Given the description of an element on the screen output the (x, y) to click on. 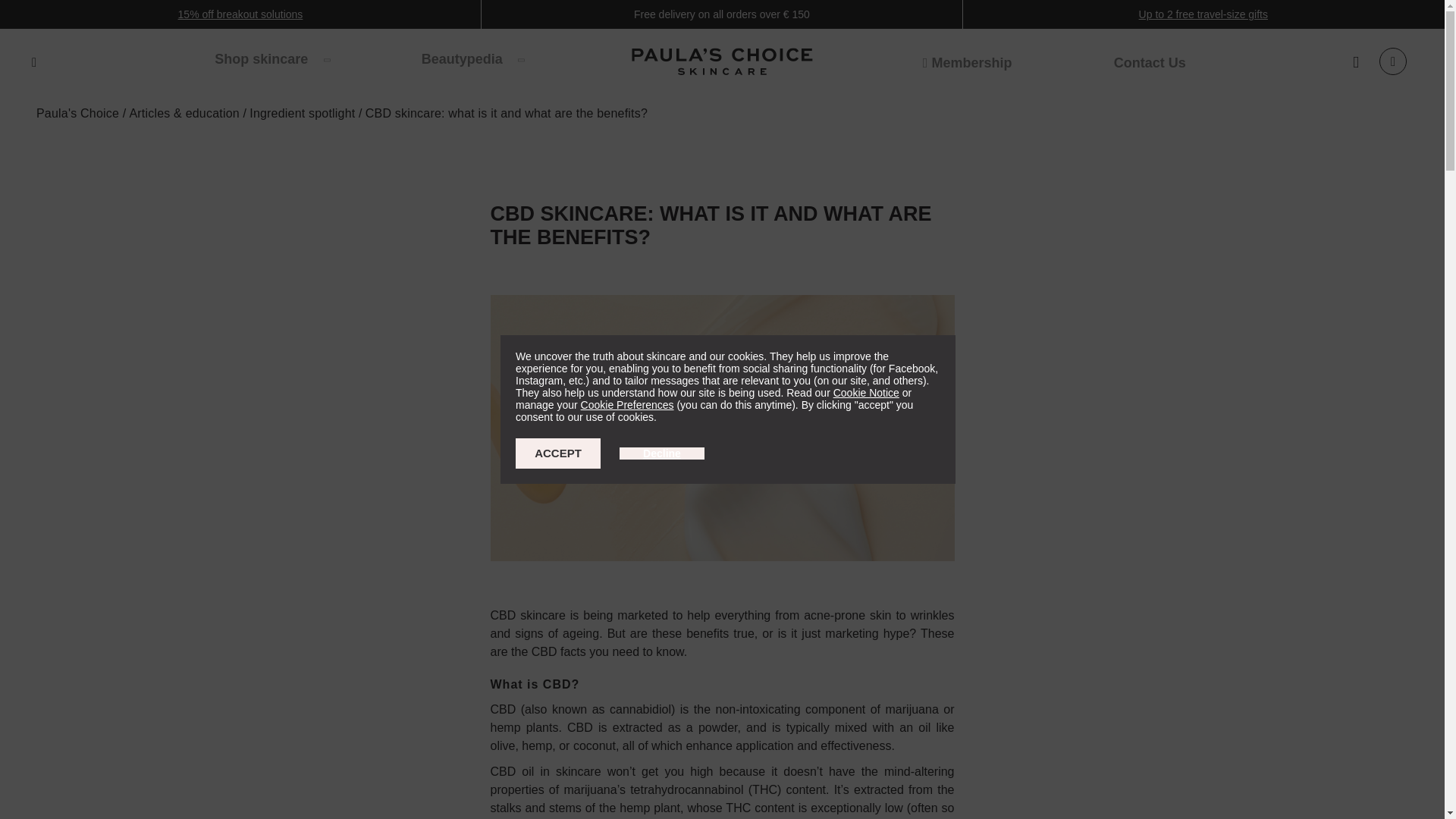
Shop skincare (272, 58)
Become a member (967, 62)
Back to Homepage (721, 64)
Edit shopping bag (1392, 61)
Search (33, 62)
Up to 2 free travel-size gifts (1203, 14)
Go to Ingredient spotlight (303, 113)
